Given the description of an element on the screen output the (x, y) to click on. 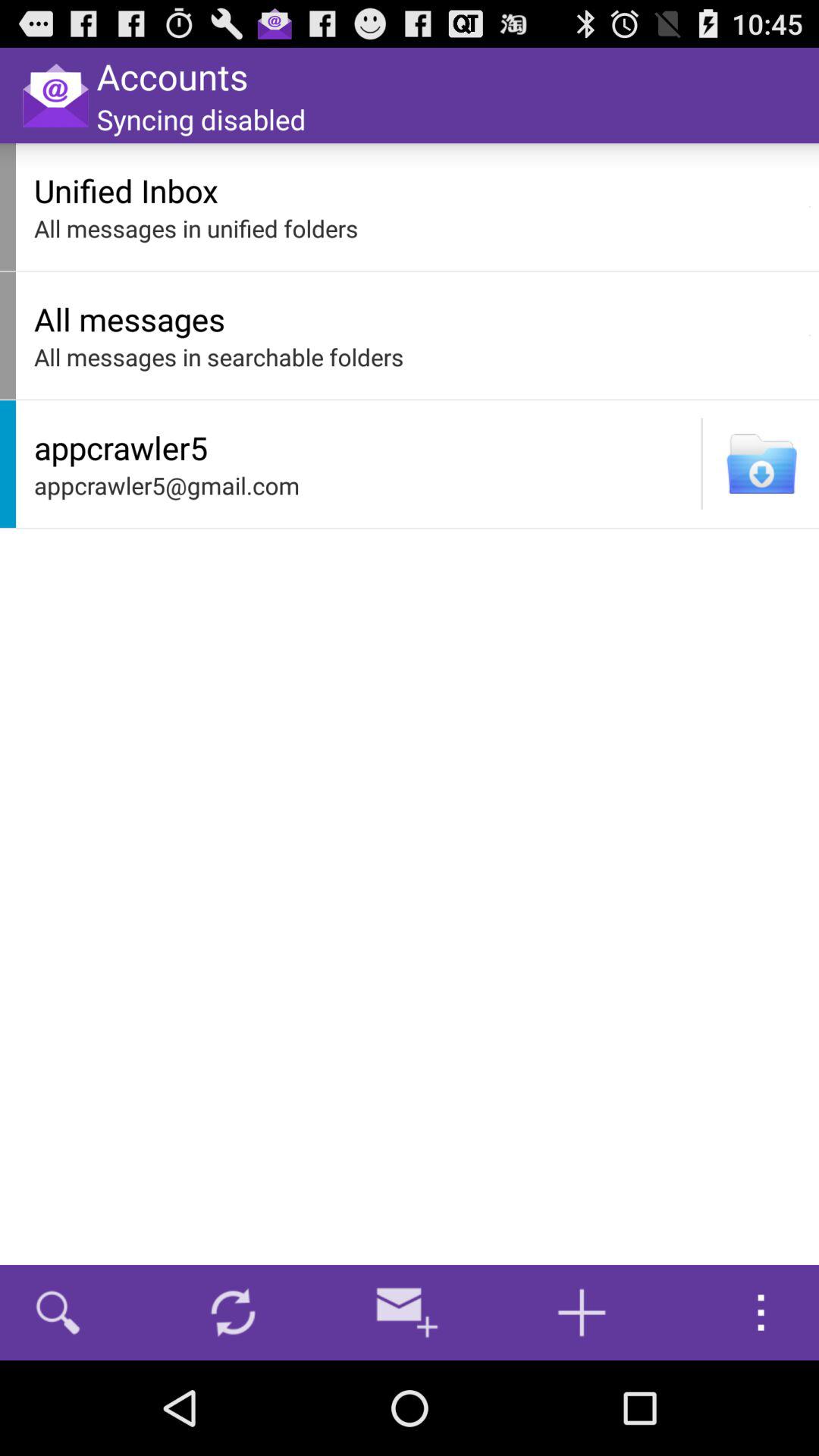
open icon below appcrawler5@gmail.com icon (232, 1312)
